Given the description of an element on the screen output the (x, y) to click on. 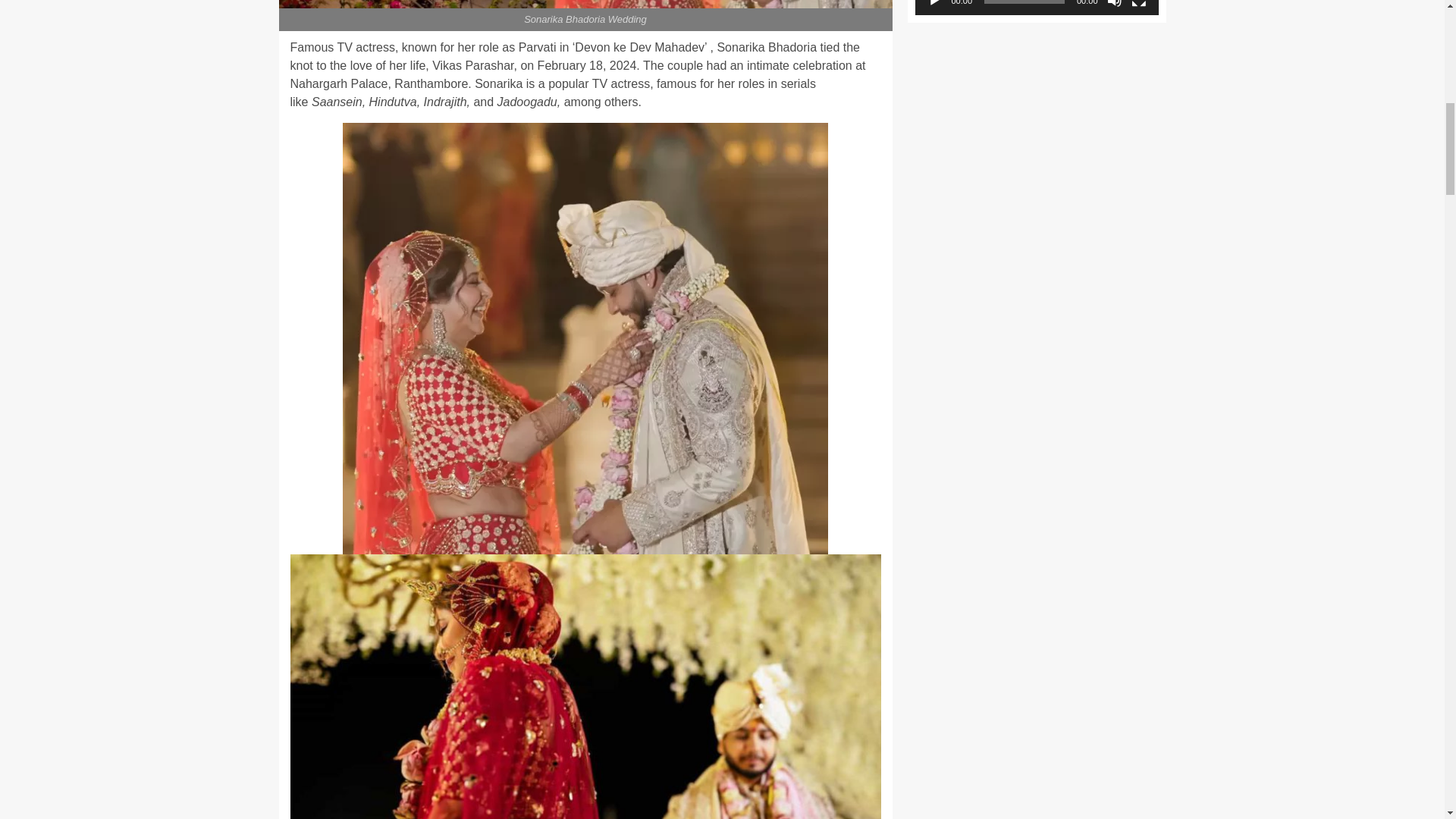
Play (934, 3)
Fullscreen (1139, 3)
Mute (1114, 3)
